Given the description of an element on the screen output the (x, y) to click on. 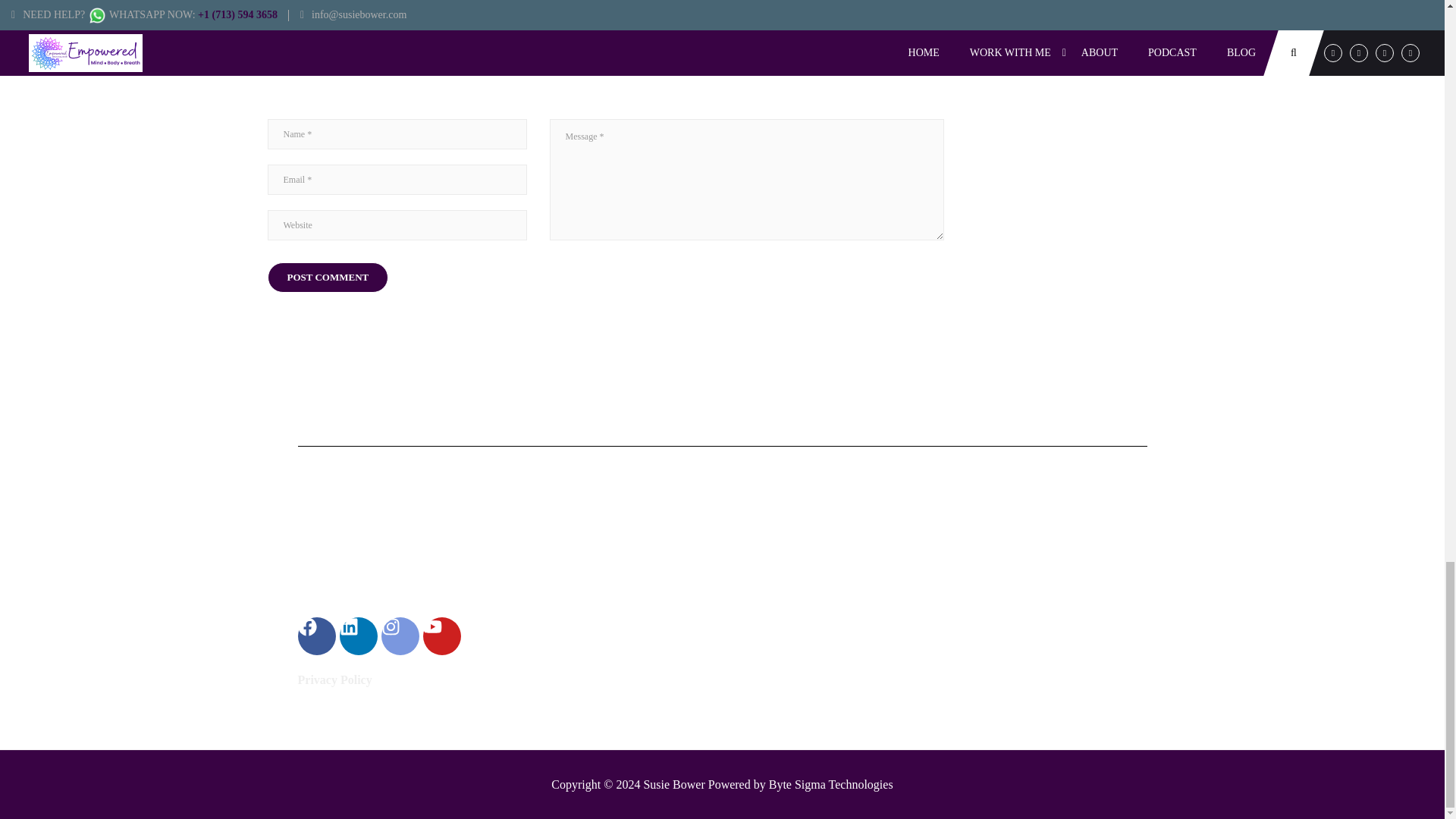
ABMP-Logo (612, 631)
PFT (793, 532)
Print (593, 532)
Post Comment (327, 276)
